Given the description of an element on the screen output the (x, y) to click on. 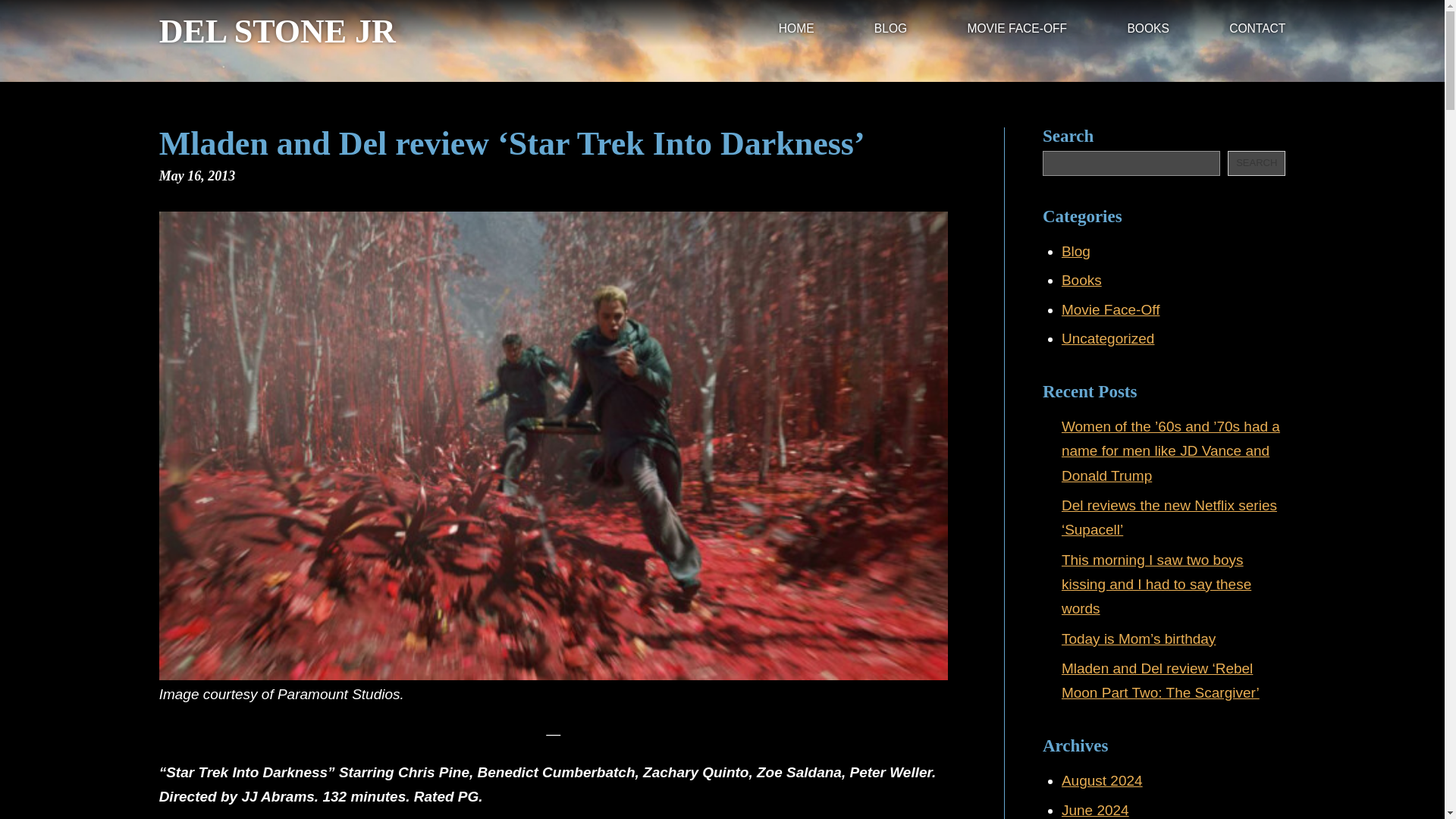
August 2024 (1101, 780)
BOOKS (1147, 29)
SEARCH (1256, 163)
Movie Face-Off (1110, 309)
HOME (795, 29)
Blog (1075, 251)
Uncategorized (1107, 338)
Books (1081, 279)
CONTACT (1256, 29)
BLOG (891, 29)
DEL STONE JR (277, 32)
MOVIE FACE-OFF (1016, 29)
June 2024 (1095, 810)
